Given the description of an element on the screen output the (x, y) to click on. 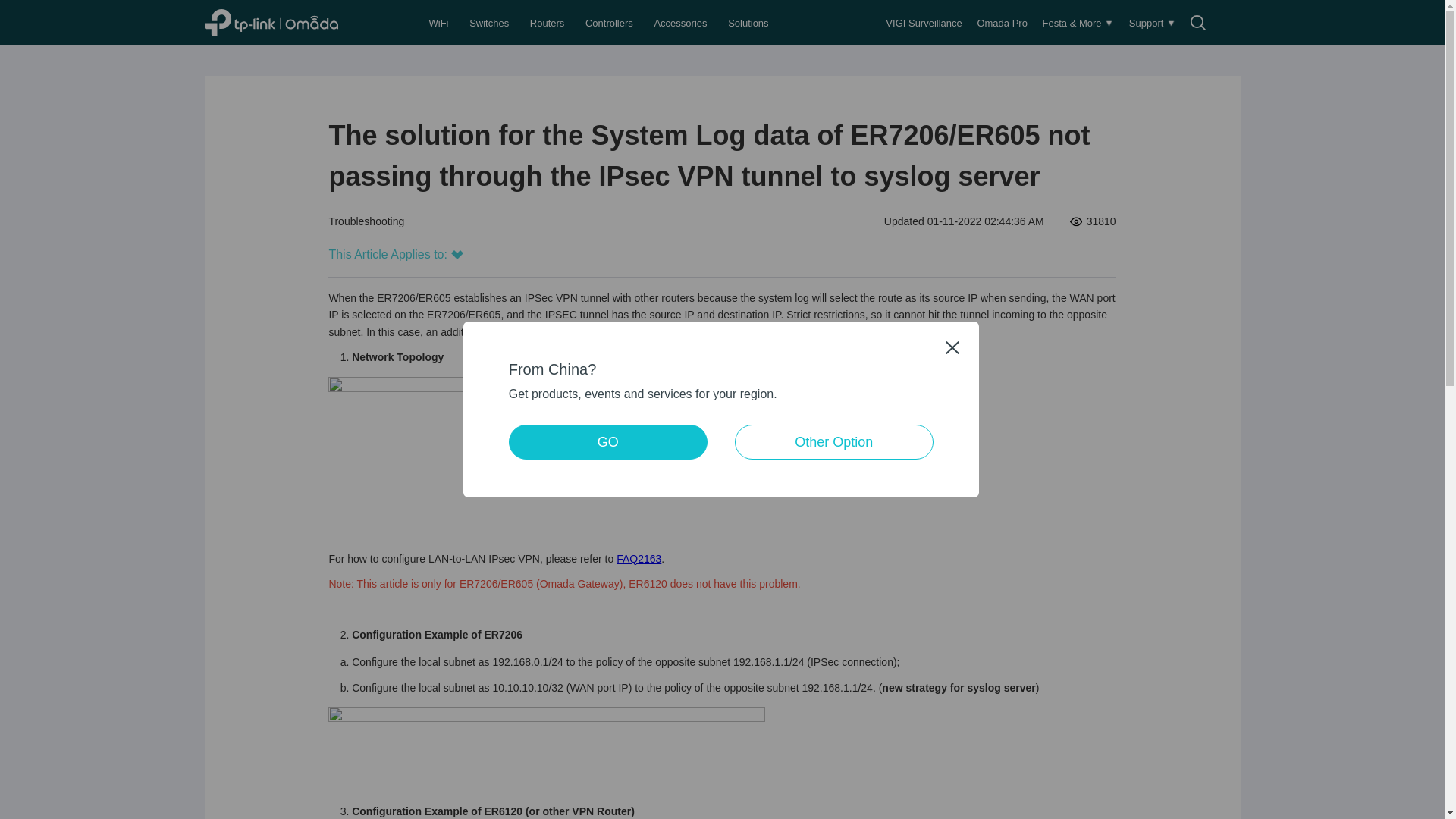
Search icon (1198, 22)
Choose location (1230, 22)
TP-Link, Reliably Smart (288, 22)
Accessories (681, 22)
Solutions (749, 22)
Switches (490, 22)
Controllers (609, 22)
